Given the description of an element on the screen output the (x, y) to click on. 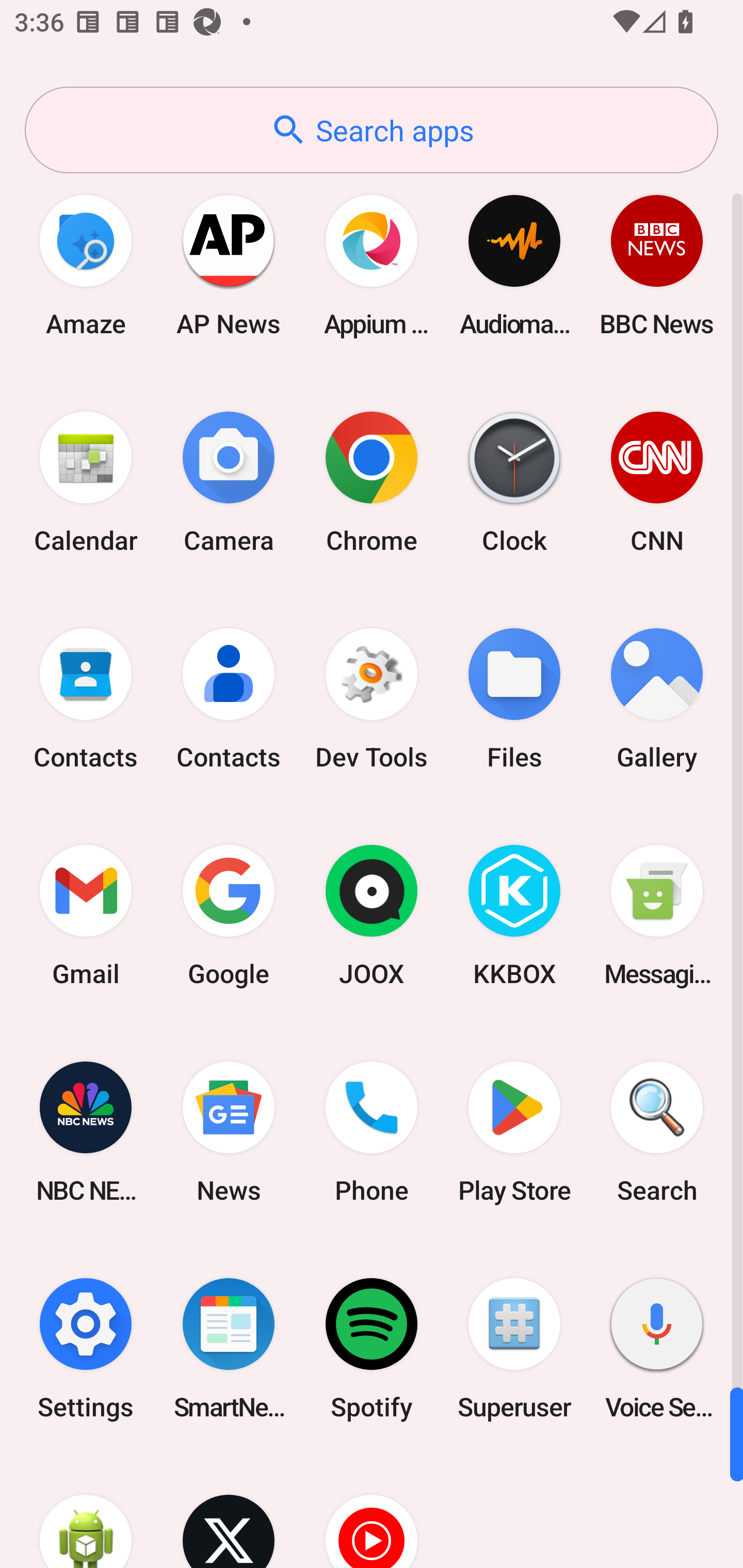
  Search apps (371, 130)
Amaze (85, 264)
AP News (228, 264)
Appium Settings (371, 264)
Audio­mack (514, 264)
BBC News (656, 264)
Calendar (85, 482)
Camera (228, 482)
Chrome (371, 482)
Clock (514, 482)
CNN (656, 482)
Contacts (85, 699)
Contacts (228, 699)
Dev Tools (371, 699)
Files (514, 699)
Gallery (656, 699)
Gmail (85, 915)
Google (228, 915)
JOOX (371, 915)
KKBOX (514, 915)
Messaging (656, 915)
NBC NEWS (85, 1131)
News (228, 1131)
Phone (371, 1131)
Play Store (514, 1131)
Search (656, 1131)
Settings (85, 1348)
SmartNews (228, 1348)
Spotify (371, 1348)
Superuser (514, 1348)
Voice Search (656, 1348)
WebView Browser Tester (85, 1512)
X (228, 1512)
YT Music (371, 1512)
